Given the description of an element on the screen output the (x, y) to click on. 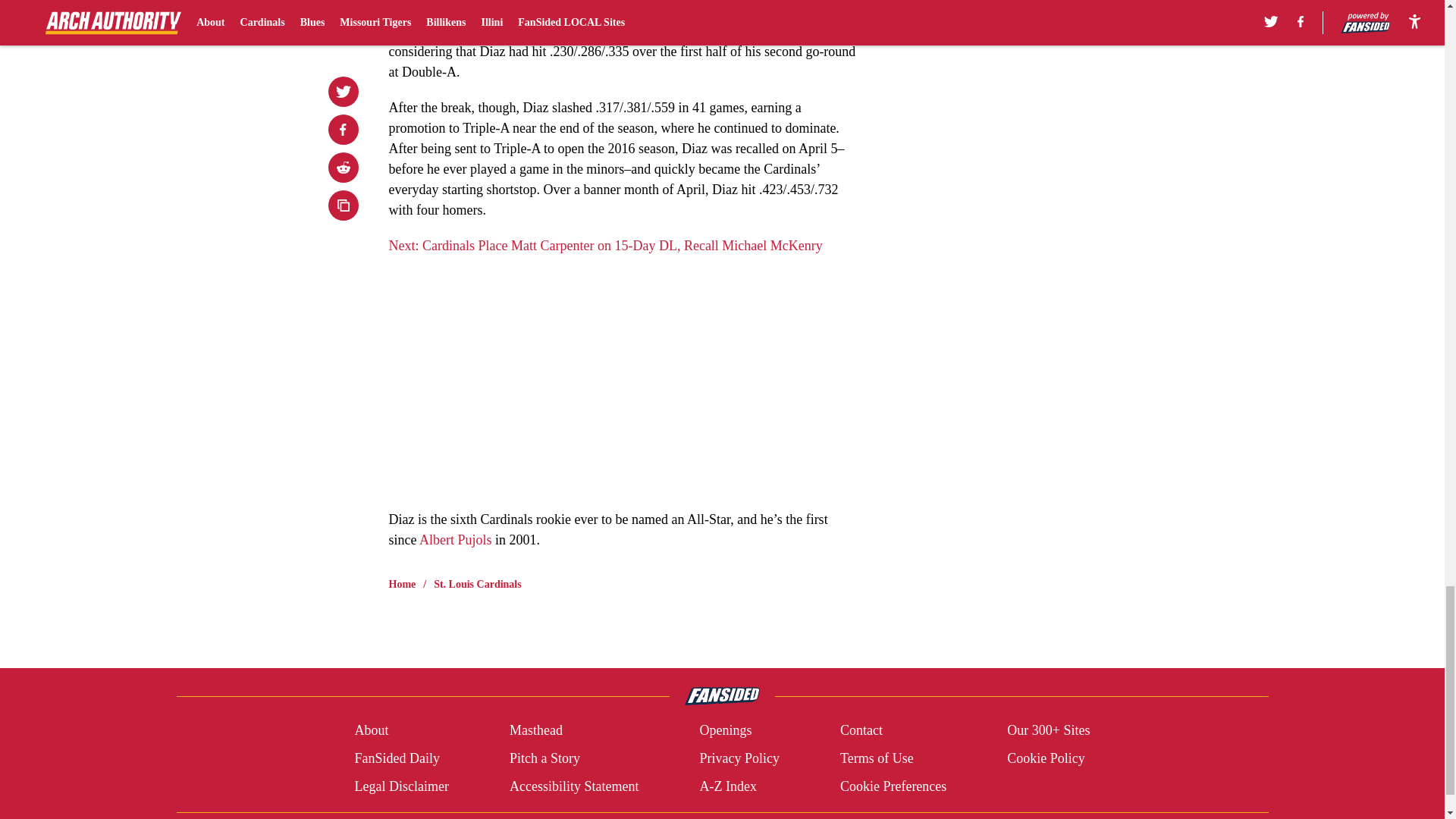
Openings (724, 730)
Contact (861, 730)
Albert Pujols (455, 539)
Home (401, 584)
Dan Johnson (424, 1)
About (370, 730)
Masthead (535, 730)
St. Louis Cardinals (477, 584)
